Given the description of an element on the screen output the (x, y) to click on. 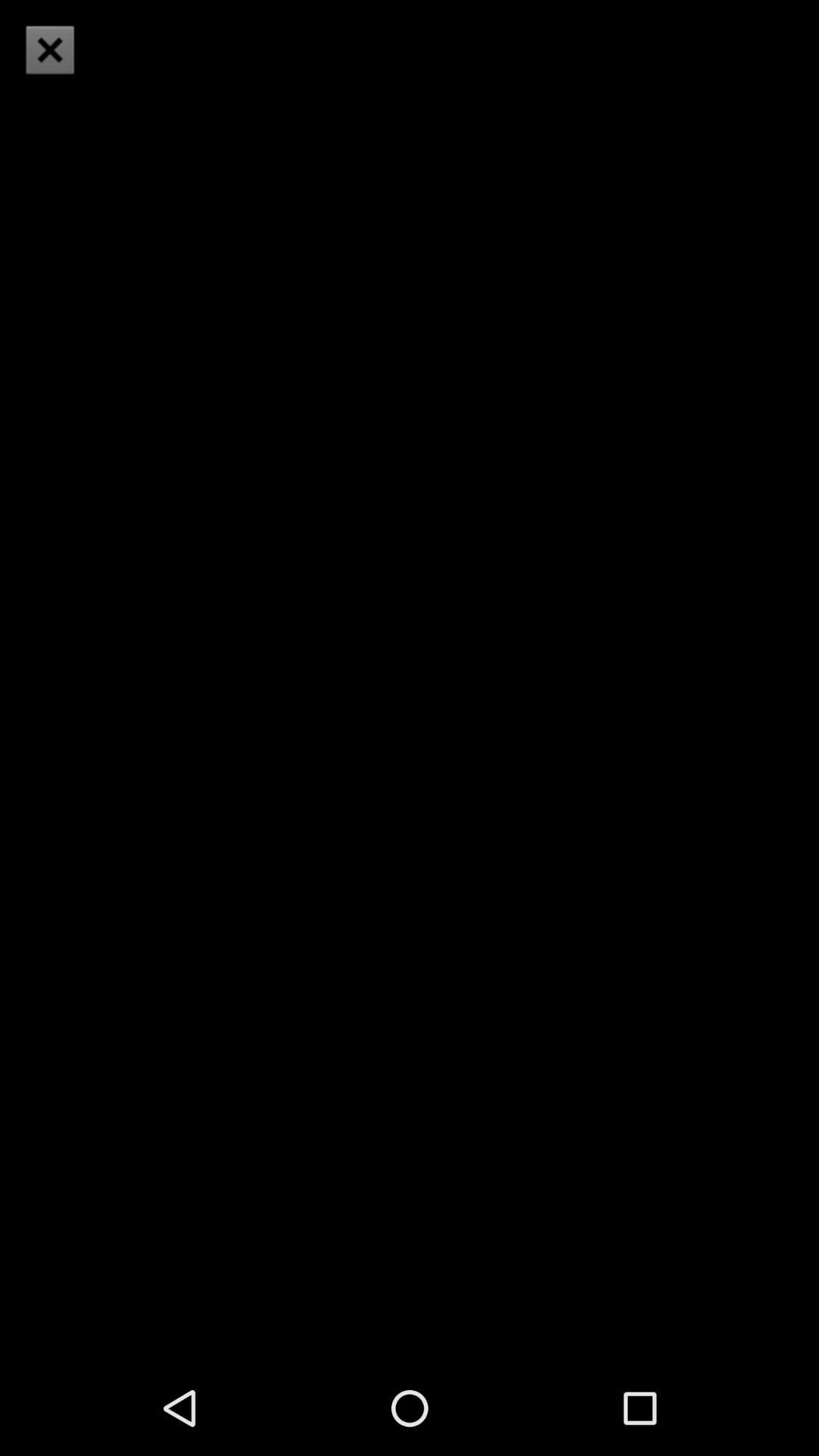
select icon at the top left corner (49, 49)
